Given the description of an element on the screen output the (x, y) to click on. 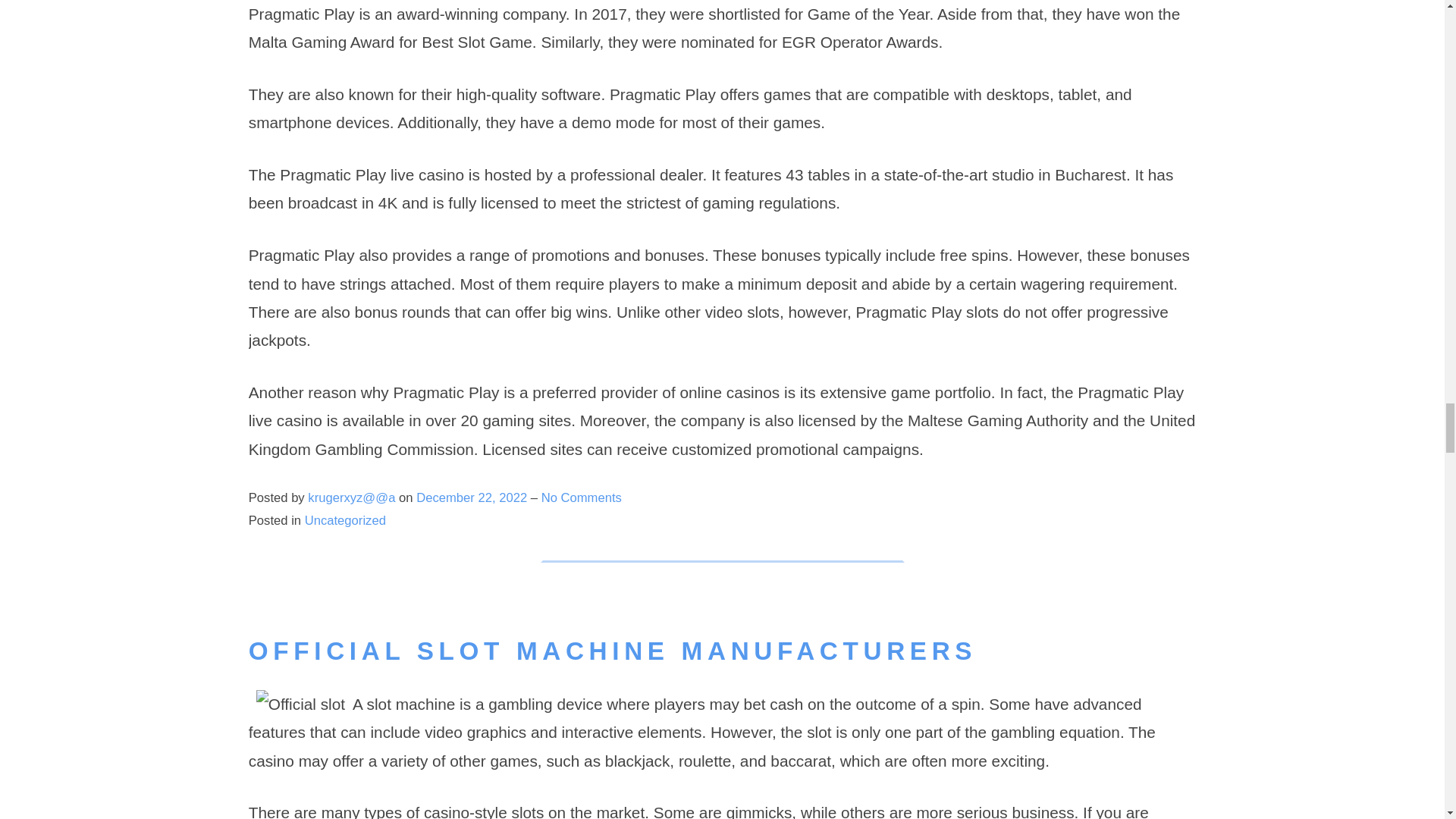
OFFICIAL SLOT MACHINE MANUFACTURERS (612, 651)
Uncategorized (344, 520)
No Comments (581, 497)
December 22, 2022 (473, 497)
